Given the description of an element on the screen output the (x, y) to click on. 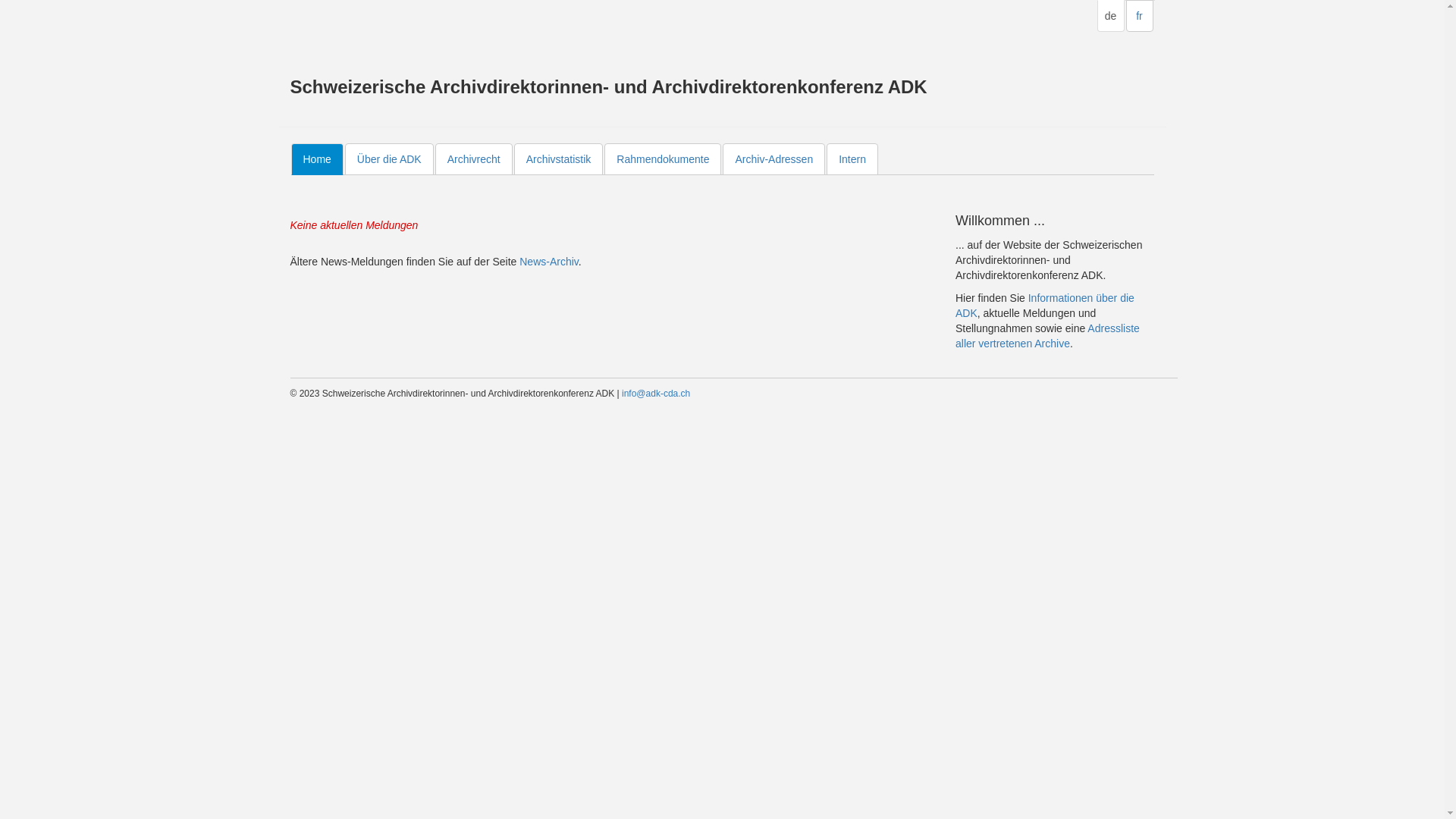
Rahmendokumente Element type: text (662, 159)
info@adk-cda.ch Element type: text (655, 393)
News-Archiv Element type: text (548, 261)
Archivrecht Element type: text (473, 159)
de Element type: text (1109, 15)
Intern Element type: text (852, 159)
fr Element type: text (1138, 15)
Archiv-Adressen Element type: text (773, 159)
Archivstatistik Element type: text (558, 159)
Adressliste aller vertretenen Archive Element type: text (1047, 335)
Home Element type: text (317, 159)
